Given the description of an element on the screen output the (x, y) to click on. 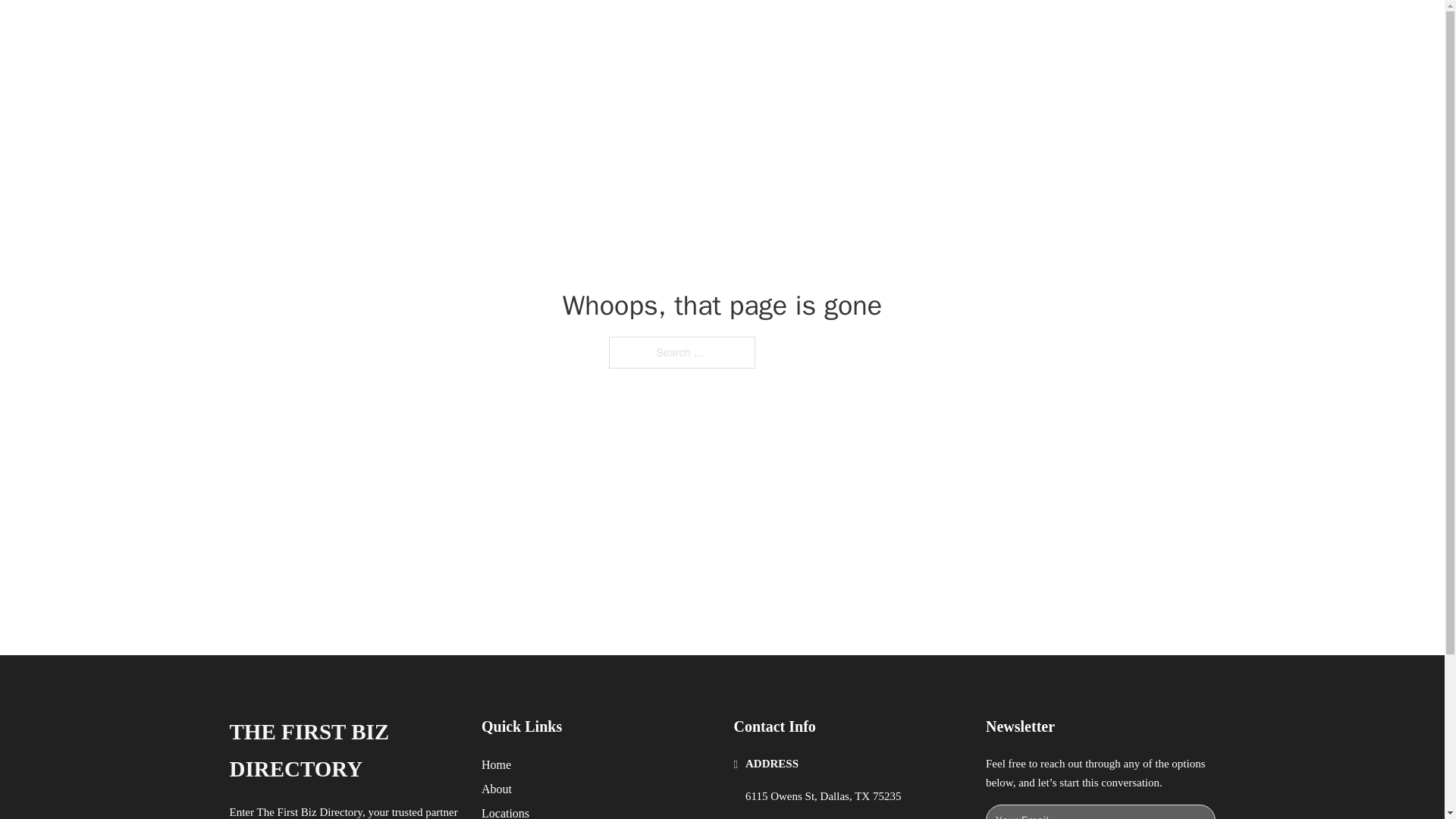
Locations (505, 811)
Home (496, 764)
HOME (919, 29)
THE FIRST BIZ DIRECTORY (438, 28)
About (496, 788)
THE FIRST BIZ DIRECTORY (343, 750)
LOCATIONS (990, 29)
